Given the description of an element on the screen output the (x, y) to click on. 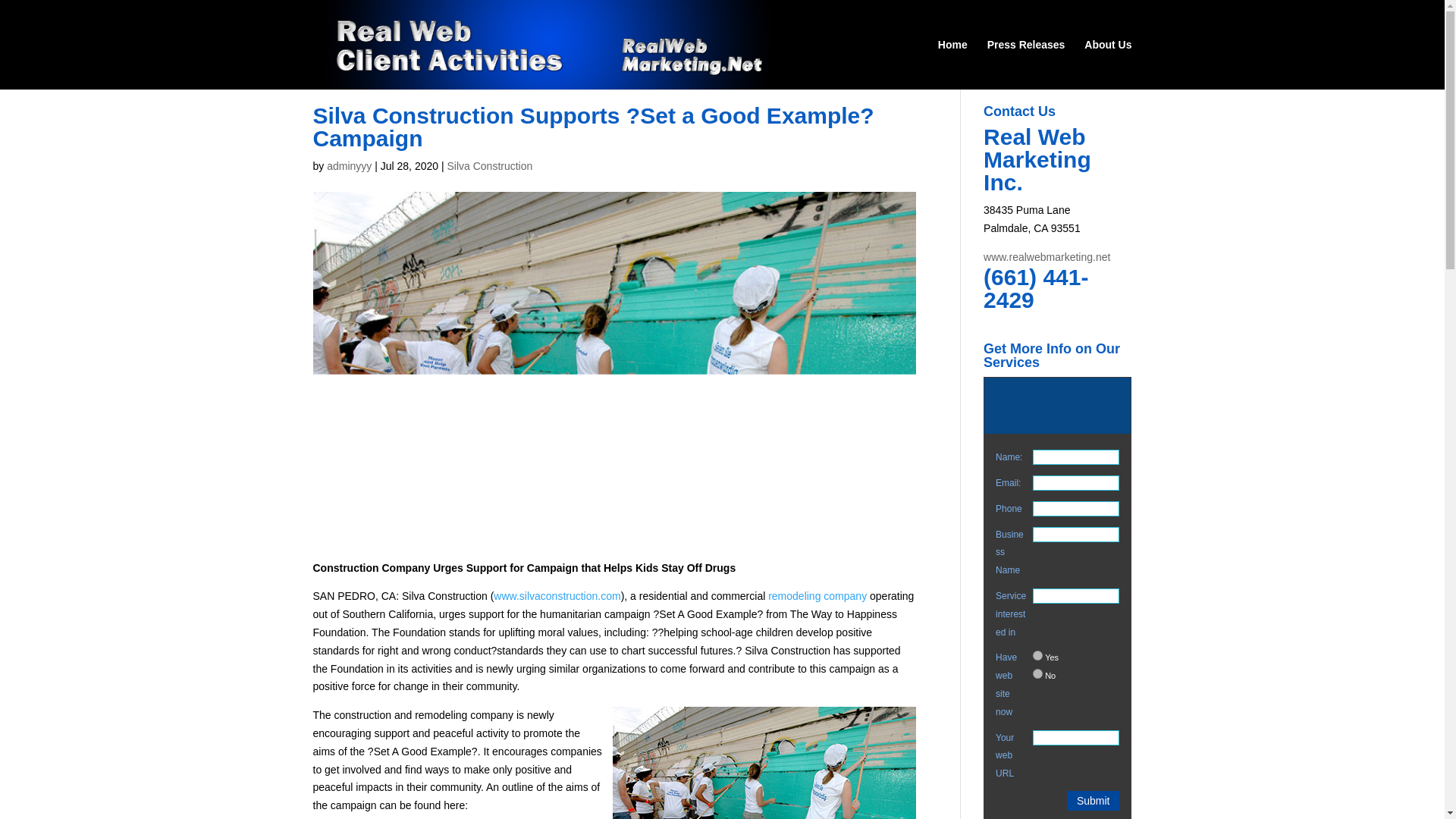
About Us (1107, 64)
adminyyy (348, 165)
Submit (1093, 800)
No (1037, 673)
Home (952, 64)
Posts by adminyyy (348, 165)
Press Releases (1026, 64)
Silva Construction (489, 165)
www.realwebmarketing.net (1046, 256)
Yes (1037, 655)
remodeling company (817, 595)
www.silvaconstruction.com (556, 595)
Submit (1093, 800)
